Given the description of an element on the screen output the (x, y) to click on. 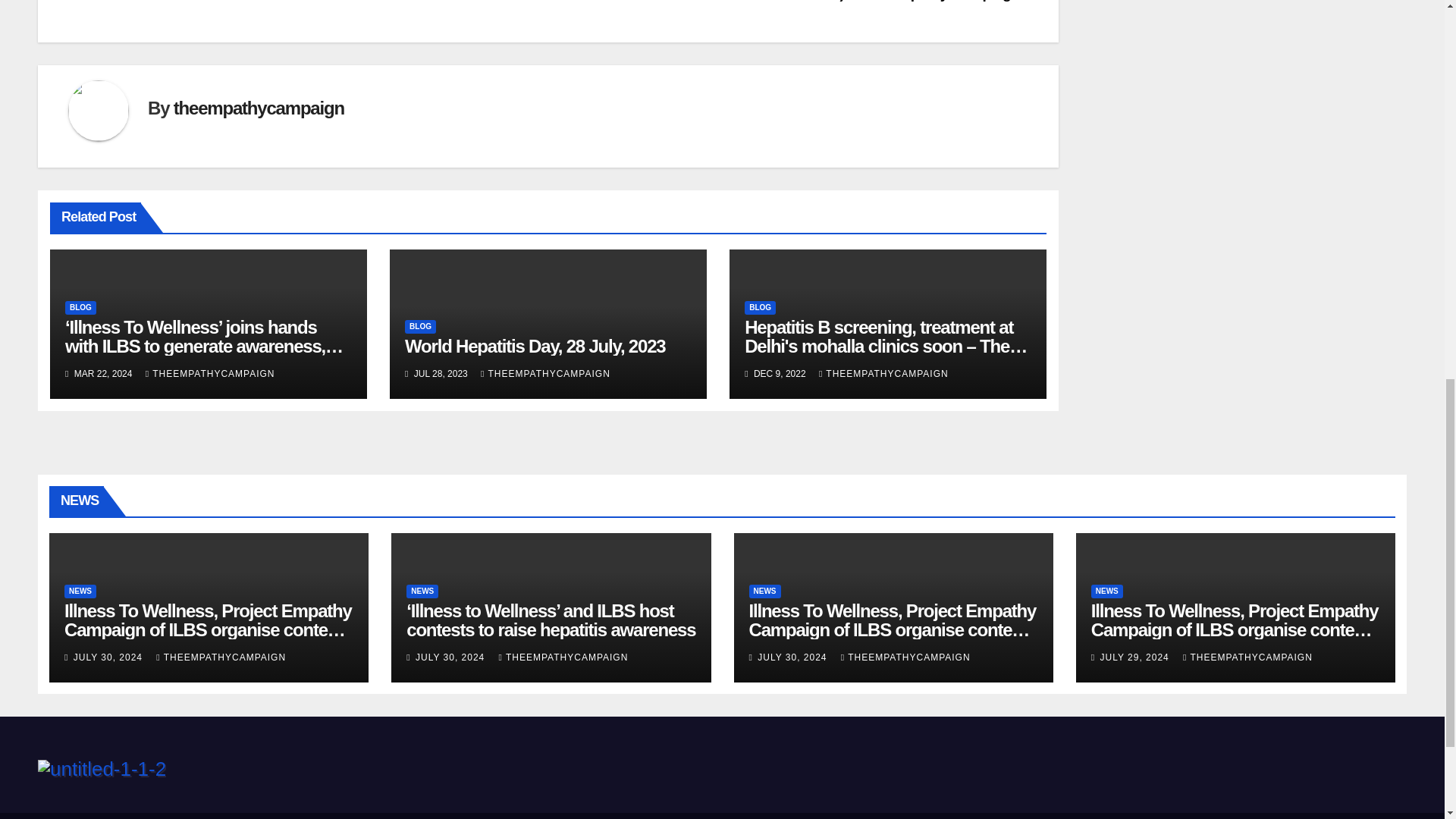
Permalink to: World Hepatitis Day, 28 July, 2023 (534, 345)
